Given the description of an element on the screen output the (x, y) to click on. 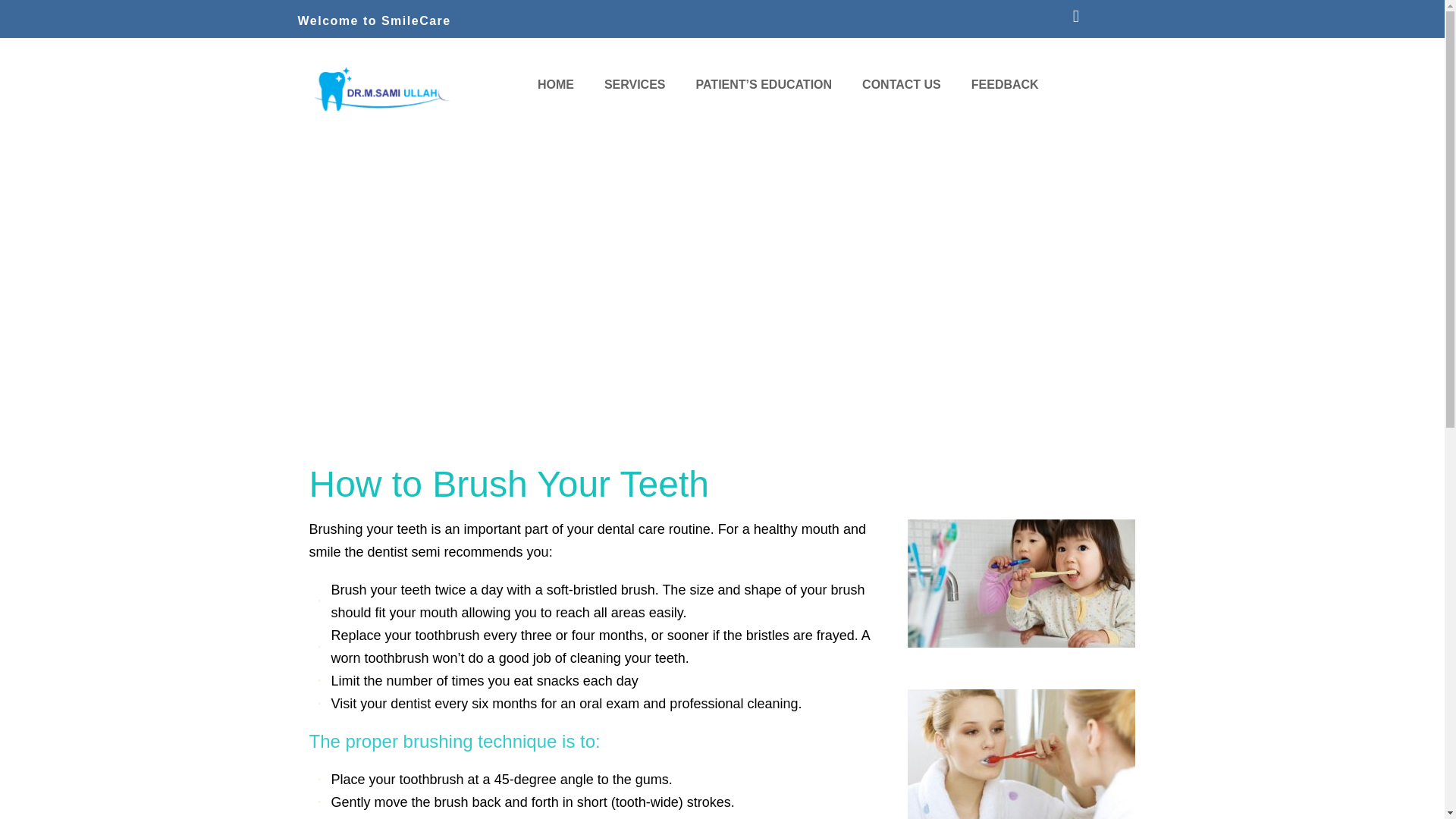
FEEDBACK (1005, 84)
CONTACT US (901, 84)
HOME (555, 84)
SERVICES (635, 84)
